Given the description of an element on the screen output the (x, y) to click on. 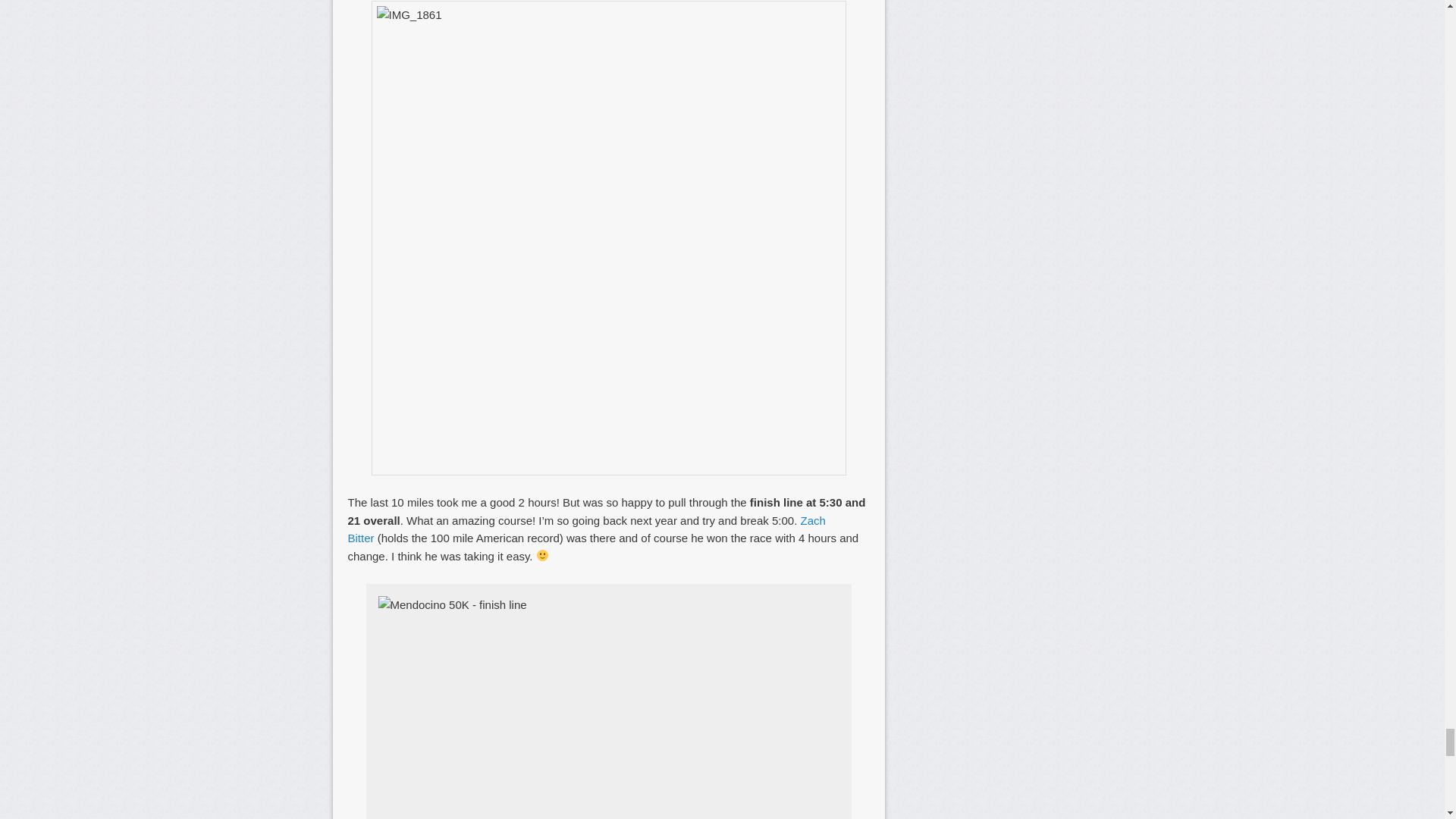
Zach Bitter (586, 529)
